Given the description of an element on the screen output the (x, y) to click on. 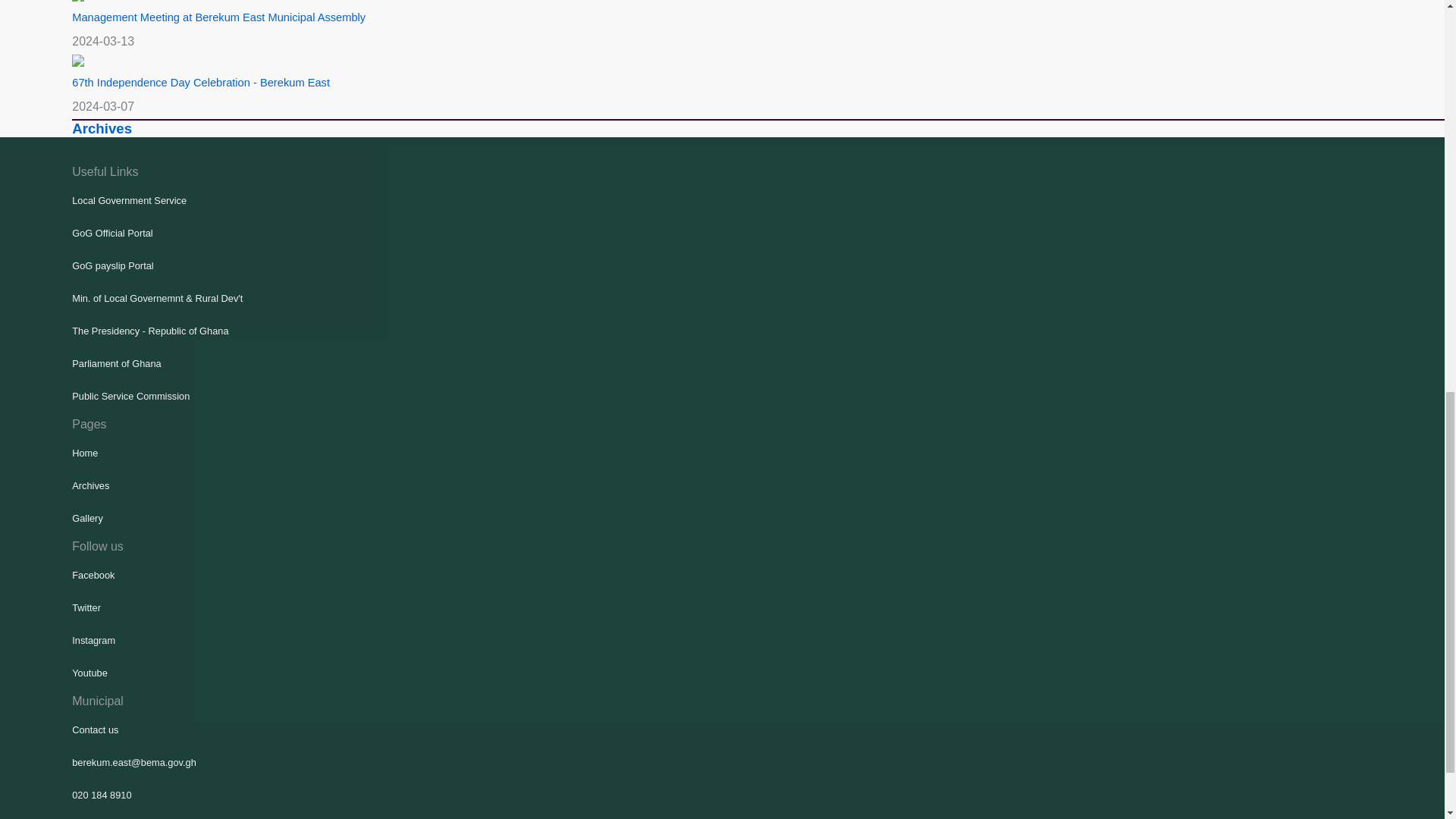
Management Meeting at Berekum East Municipal Assembly (218, 17)
67th Independence Day Celebration - Berekum East (200, 82)
